Given the description of an element on the screen output the (x, y) to click on. 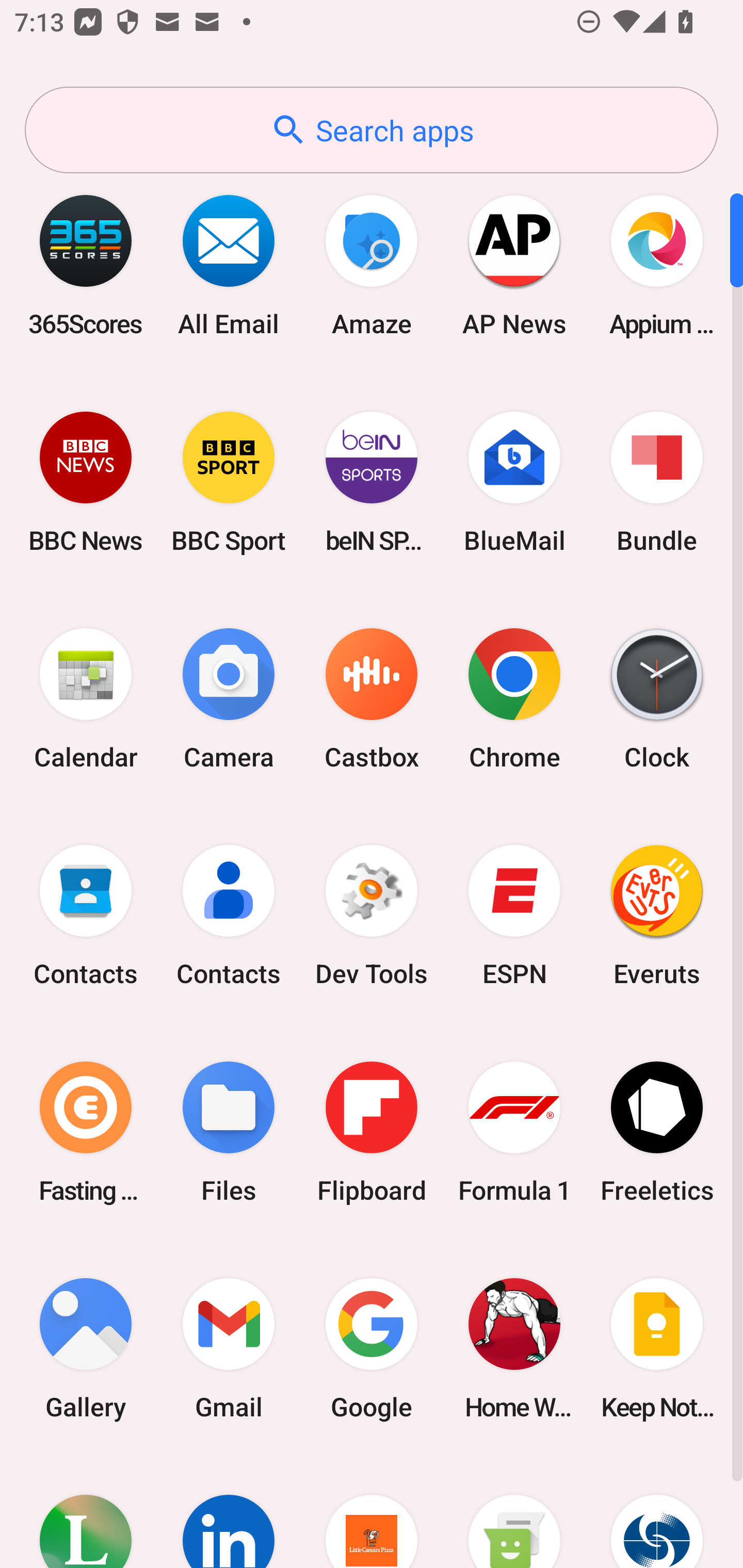
  Search apps (371, 130)
365Scores (85, 264)
All Email (228, 264)
Amaze (371, 264)
AP News (514, 264)
Appium Settings (656, 264)
BBC News (85, 482)
BBC Sport (228, 482)
beIN SPORTS (371, 482)
BlueMail (514, 482)
Bundle (656, 482)
Calendar (85, 699)
Camera (228, 699)
Castbox (371, 699)
Chrome (514, 699)
Clock (656, 699)
Contacts (85, 915)
Contacts (228, 915)
Dev Tools (371, 915)
ESPN (514, 915)
Everuts (656, 915)
Fasting Coach (85, 1131)
Files (228, 1131)
Flipboard (371, 1131)
Formula 1 (514, 1131)
Freeletics (656, 1131)
Gallery (85, 1348)
Gmail (228, 1348)
Google (371, 1348)
Home Workout (514, 1348)
Keep Notes (656, 1348)
